Given the description of an element on the screen output the (x, y) to click on. 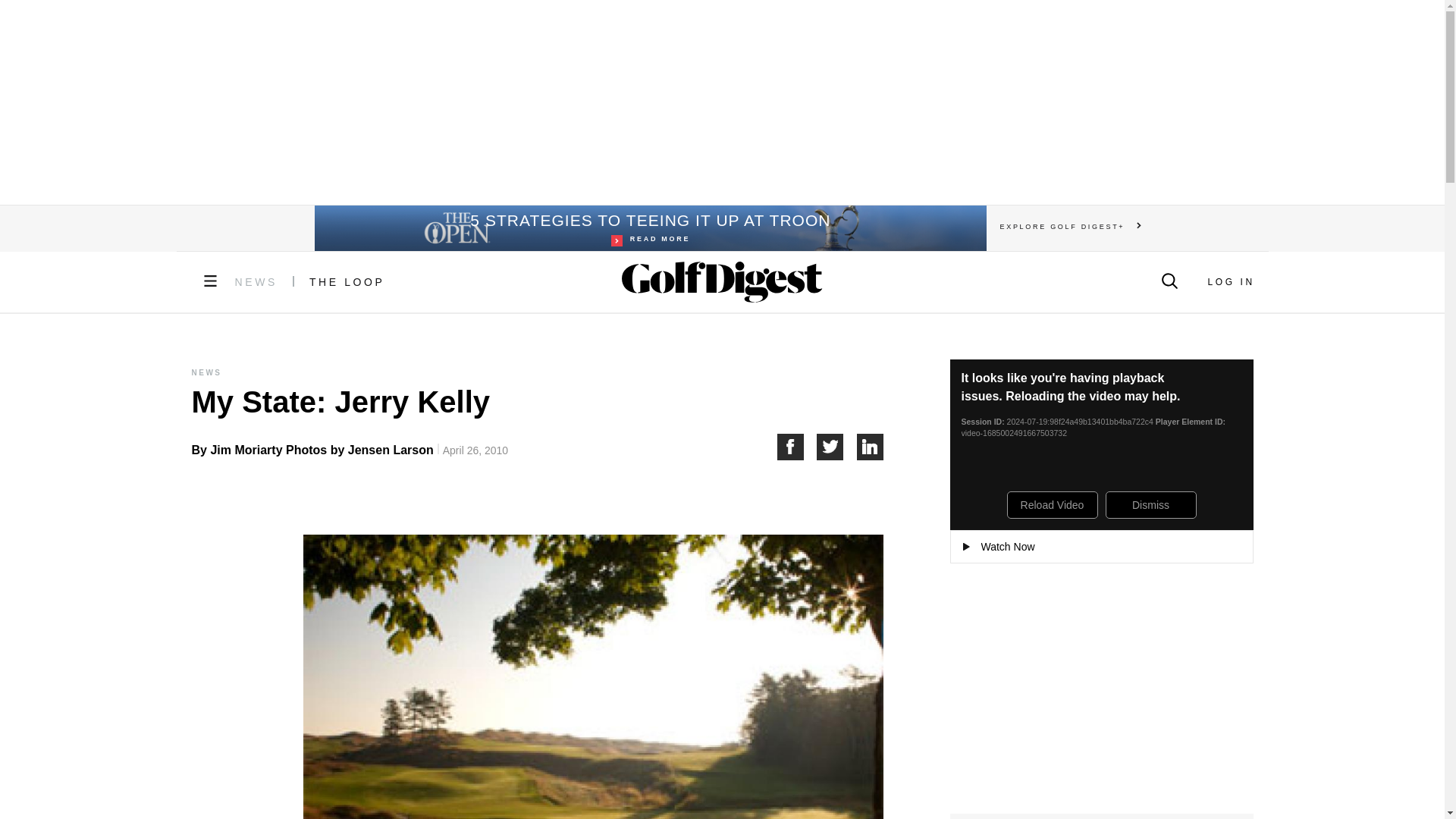
Share on Twitter (836, 447)
3rd party ad content (649, 227)
Share on Facebook (346, 282)
LOG IN (796, 447)
Share on LinkedIn (1230, 281)
NEWS (870, 447)
